Given the description of an element on the screen output the (x, y) to click on. 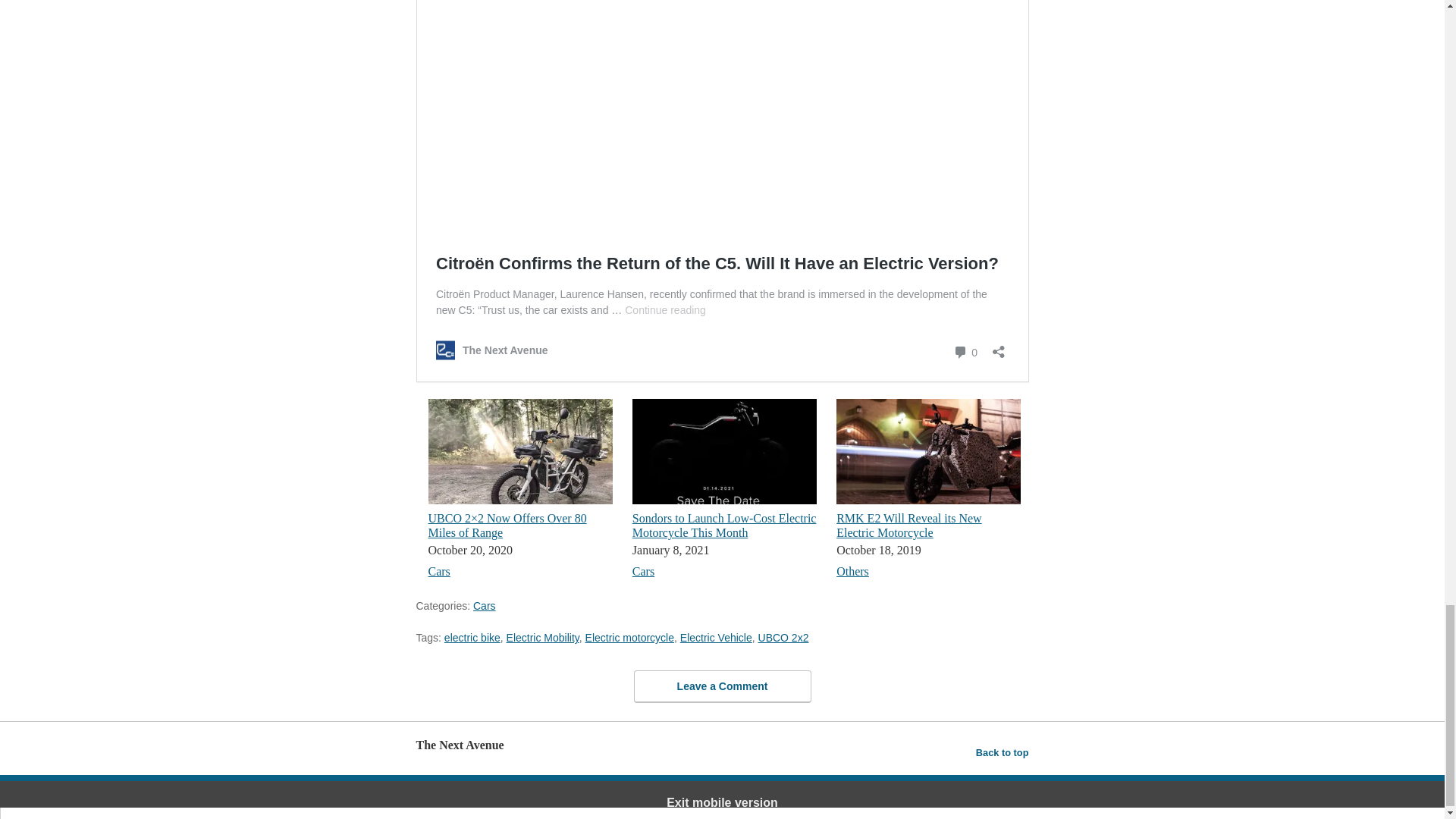
Cars (484, 605)
Leave a Comment (721, 686)
RMK E2 Will Reveal its New Electric Motorcycle (908, 524)
Cars (642, 571)
Others (852, 571)
Electric Vehicle (715, 637)
Electric motorcycle (629, 637)
UBCO 2x2 (783, 637)
Cars (438, 571)
Electric Mobility (542, 637)
Back to top (1002, 752)
electric bike (472, 637)
Sondors to Launch Low-Cost Electric Motorcycle This Month (723, 524)
